Given the description of an element on the screen output the (x, y) to click on. 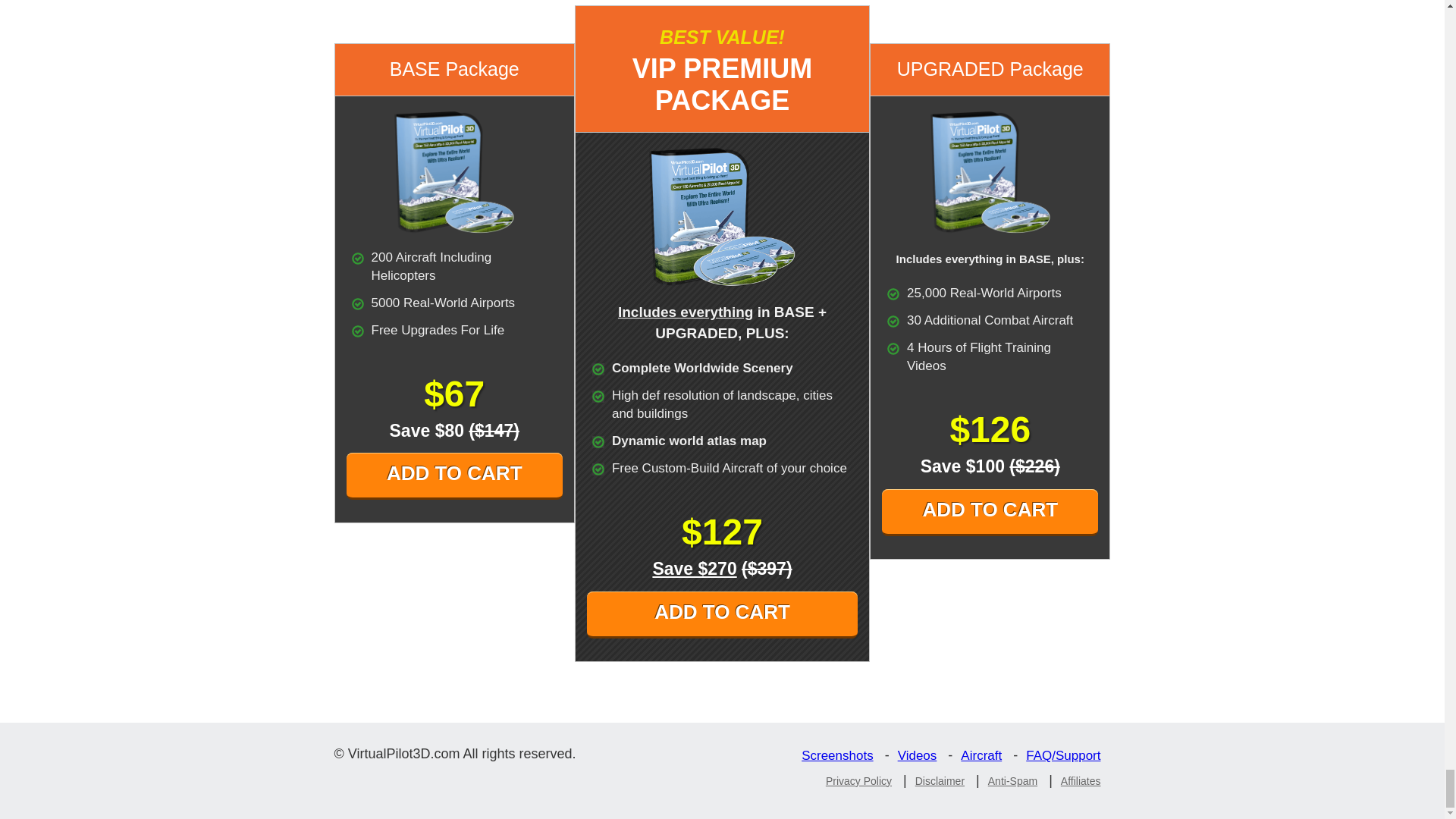
Anti-Spam (1016, 780)
Videos (921, 755)
Disclaimer (943, 780)
Affiliates (1084, 780)
Privacy Policy (862, 780)
ADD TO CART (721, 614)
ADD TO CART (454, 475)
Aircraft (984, 755)
Screenshots (841, 755)
ADD TO CART (989, 512)
